Given the description of an element on the screen output the (x, y) to click on. 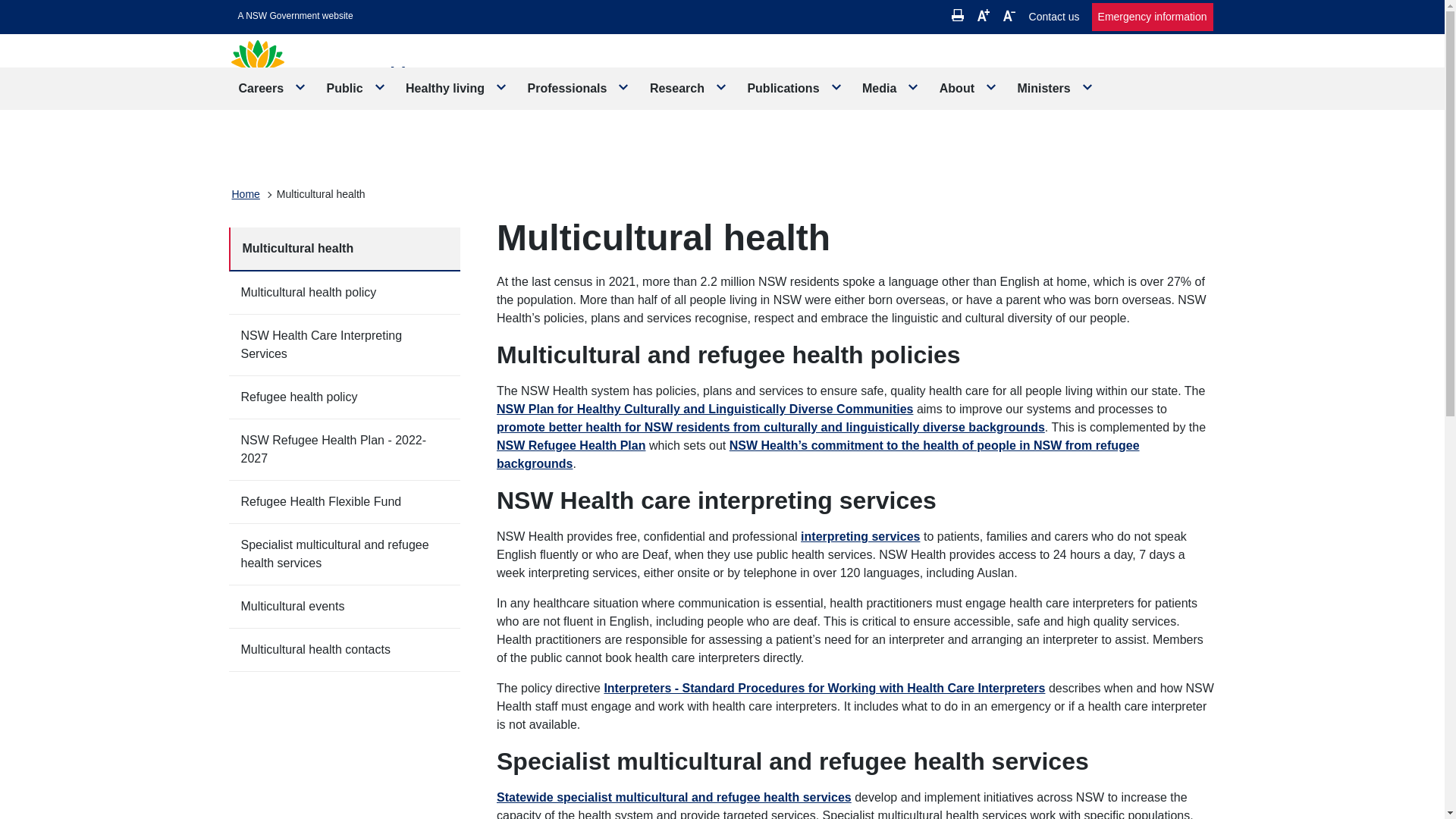
Decrease Font Size (1008, 15)
Contact us (1054, 17)
Home (245, 193)
Skip to content (296, 15)
Public (356, 88)
Careers (272, 88)
Increase Font Size (983, 15)
Print Page (957, 15)
Emergency information (1152, 17)
Go to homepage (347, 79)
